Given the description of an element on the screen output the (x, y) to click on. 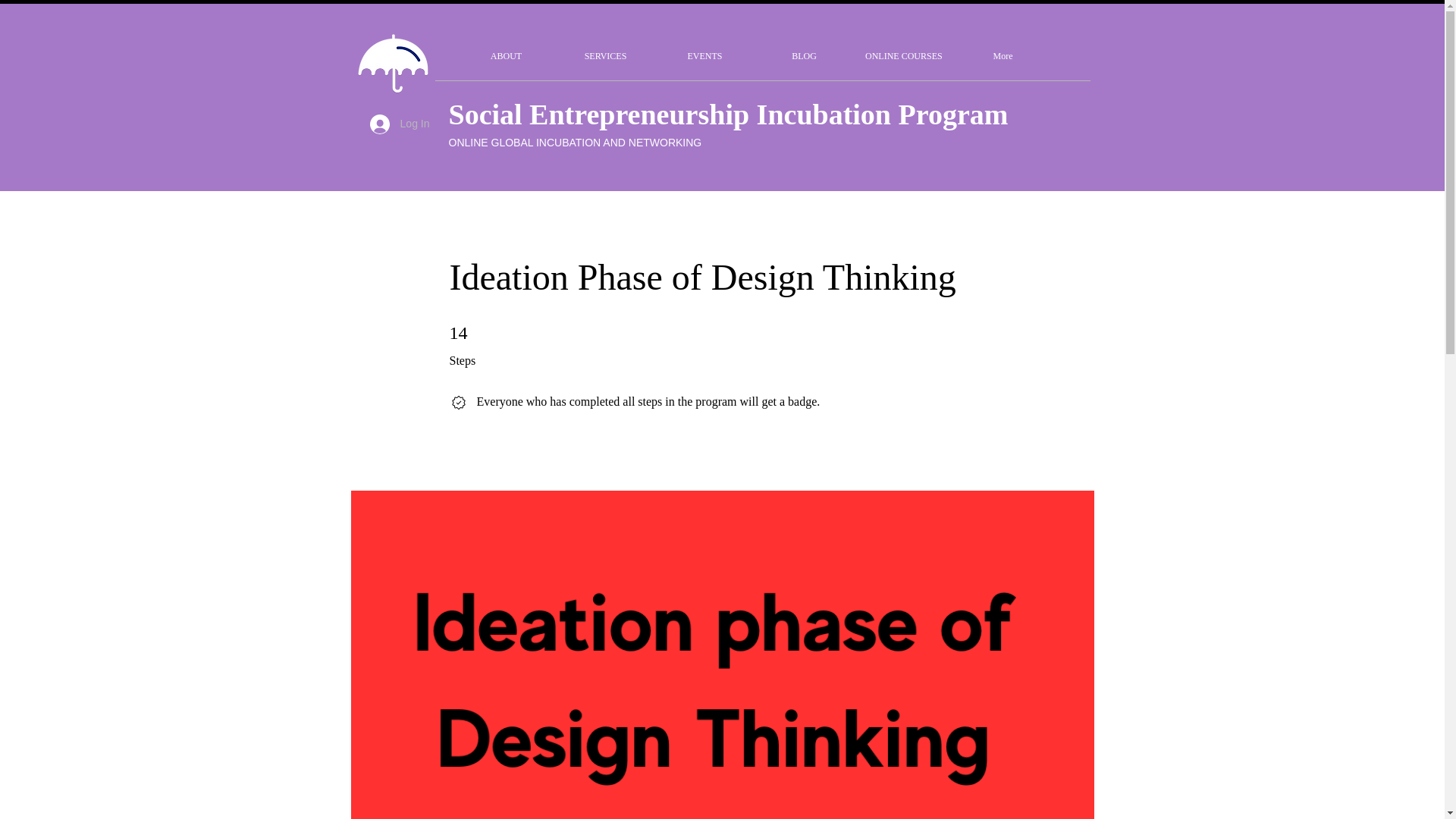
ABOUT (506, 55)
ONLINE COURSES (903, 55)
Social Entrepreneurship  (602, 114)
BLOG (803, 55)
Log In (400, 123)
